Given the description of an element on the screen output the (x, y) to click on. 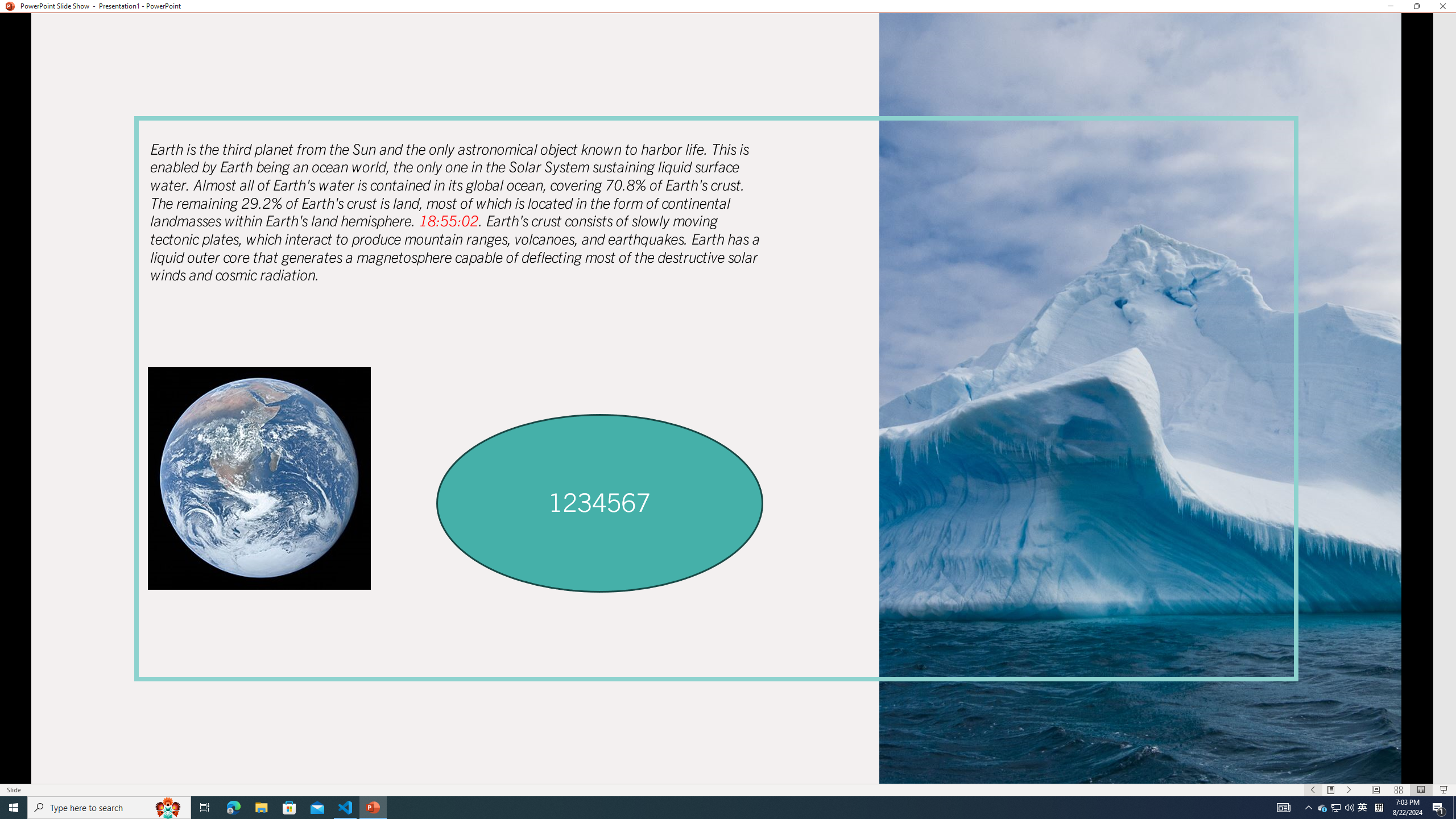
Slide Show Next On (1349, 790)
Menu On (1331, 790)
Slide Show Previous On (1313, 790)
